Given the description of an element on the screen output the (x, y) to click on. 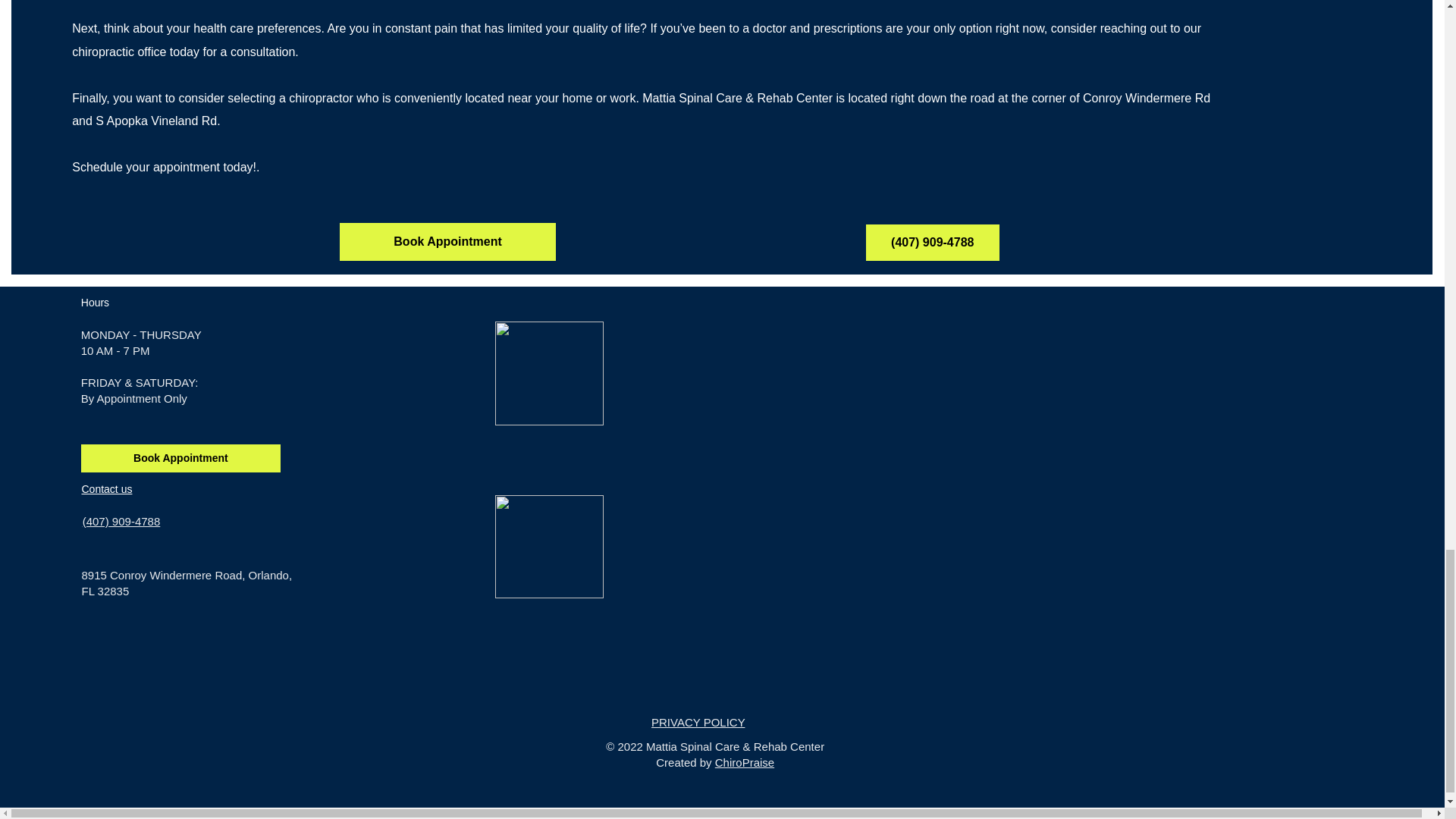
Book Appointment (181, 458)
ChiroPraise (744, 762)
Book Appointment (447, 241)
PRIVACY POLICY (697, 721)
Contact us (106, 489)
